Given the description of an element on the screen output the (x, y) to click on. 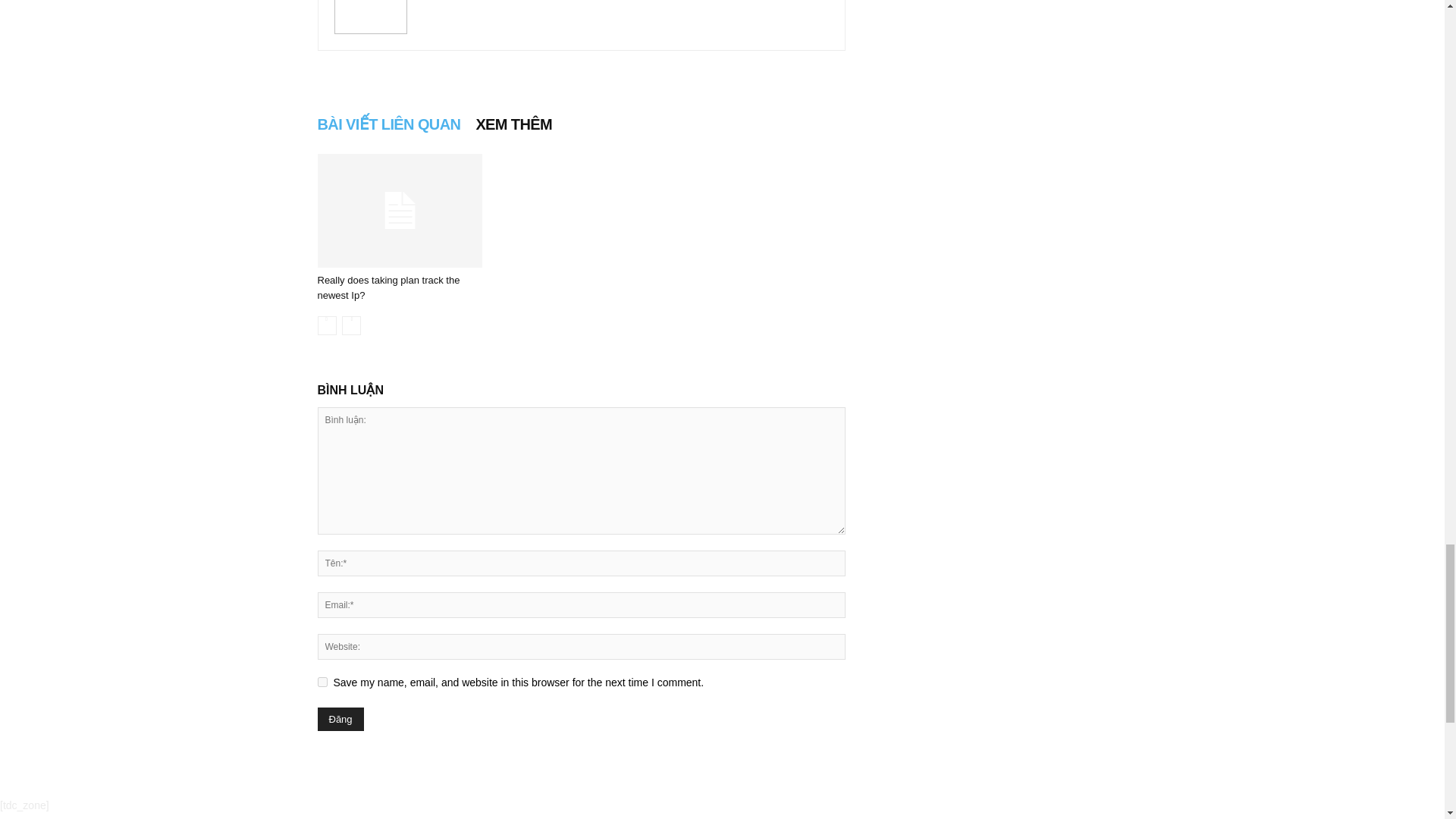
Really does taking plan track the newest Ip? (399, 210)
Really does taking plan track the newest Ip? (388, 287)
yes (321, 682)
Really does taking plan track the newest Ip? (388, 287)
